Given the description of an element on the screen output the (x, y) to click on. 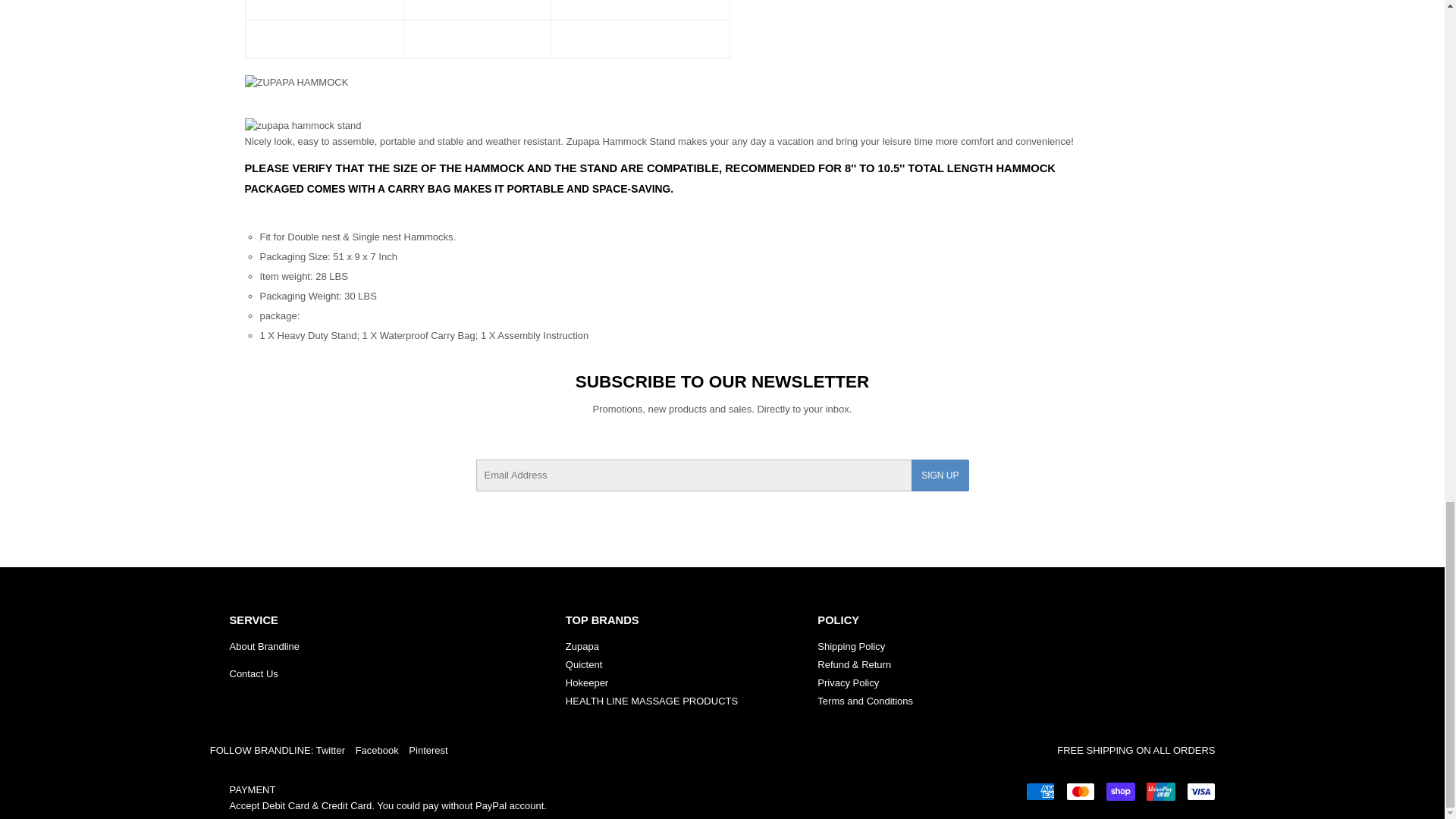
About (263, 645)
Mastercard (1079, 791)
Visa (1200, 791)
Union Pay (1160, 791)
Contact (253, 673)
Brandline on Pinterest (427, 749)
American Express (1039, 791)
Brandline on Twitter (330, 749)
Brandline on Facebook (376, 749)
Shop Pay (1119, 791)
